Given the description of an element on the screen output the (x, y) to click on. 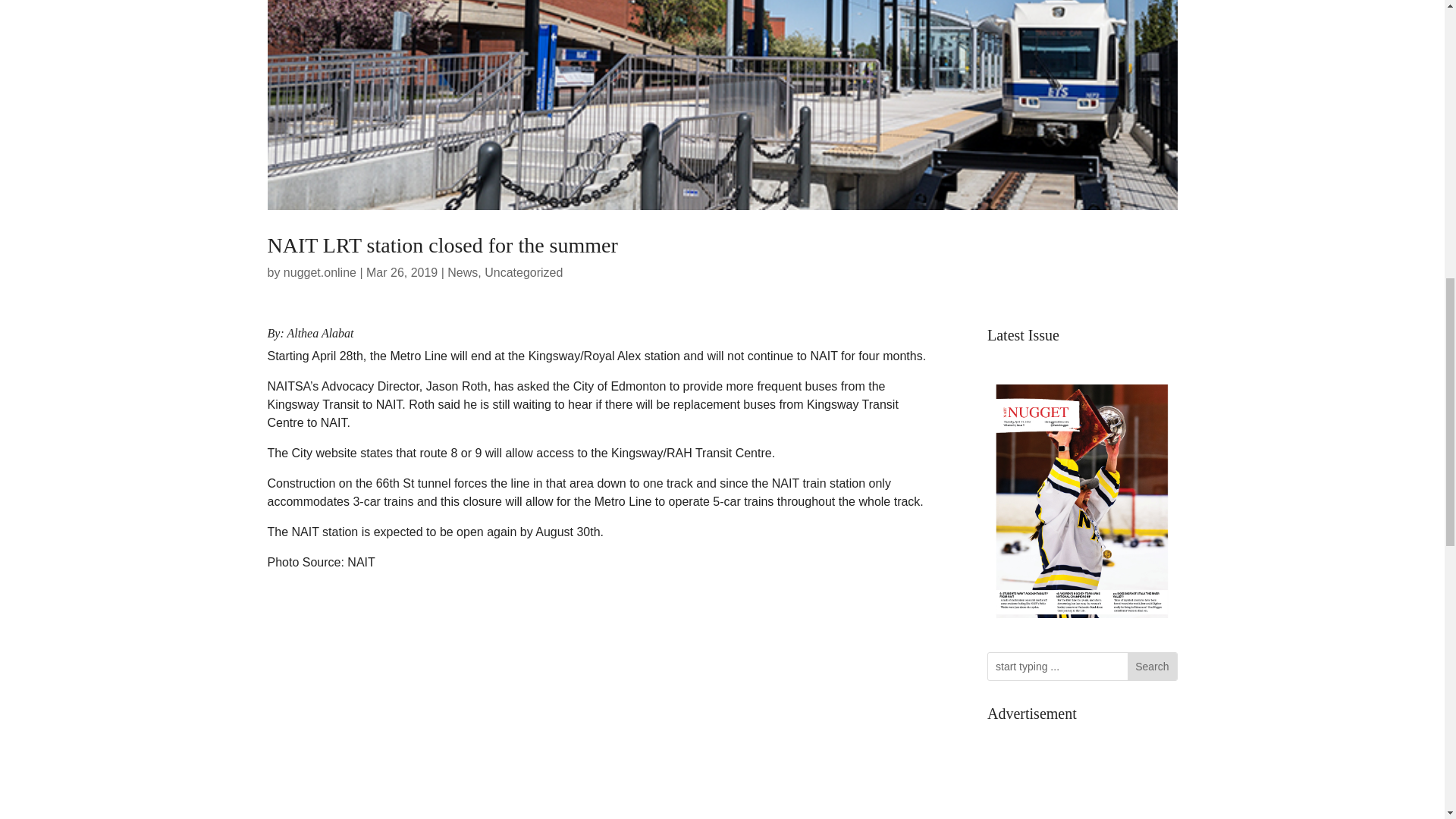
Search (1151, 666)
Search (1151, 666)
Posts by nugget.online (319, 272)
